Given the description of an element on the screen output the (x, y) to click on. 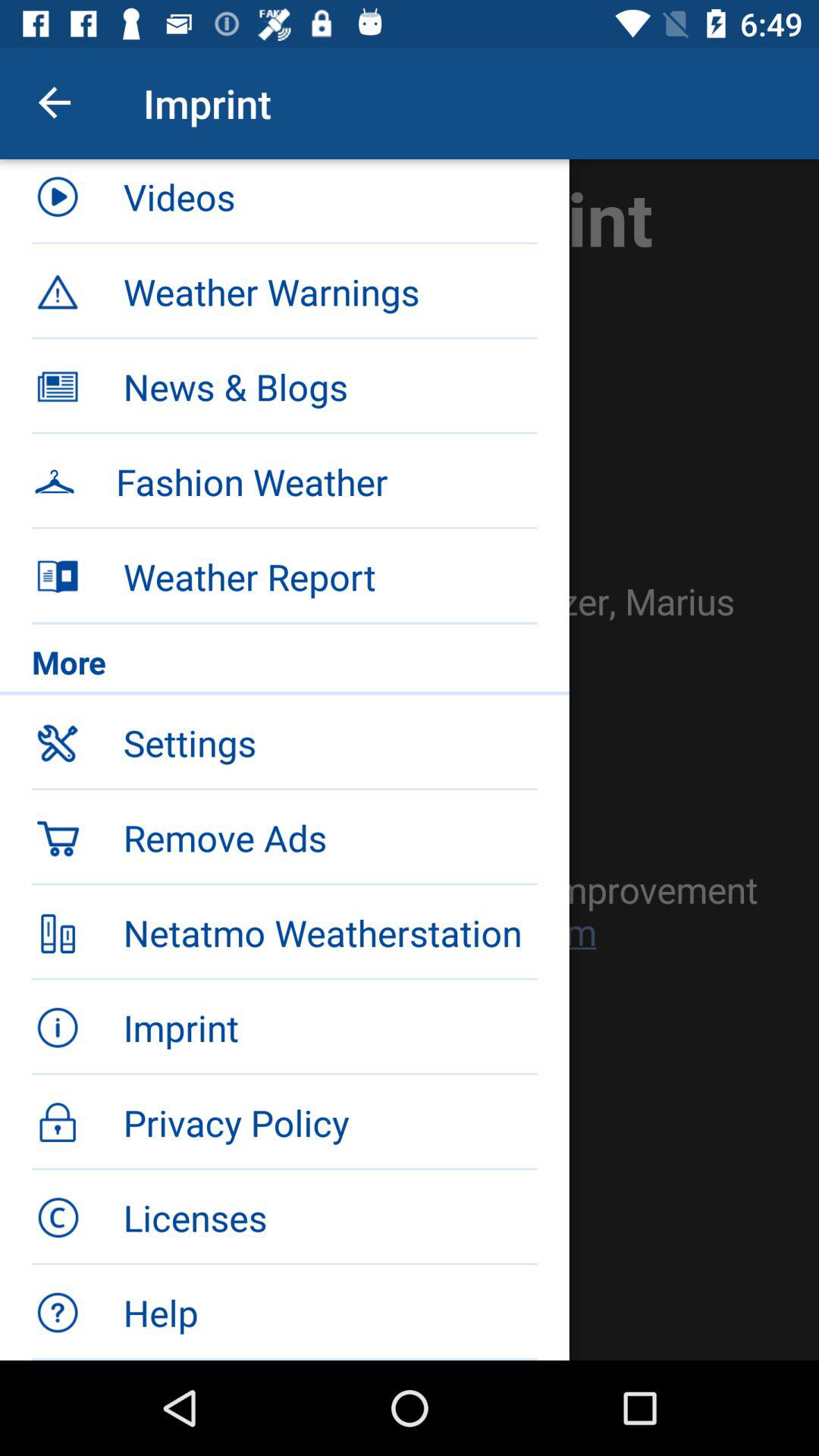
turn off item below the remove ads item (330, 932)
